Given the description of an element on the screen output the (x, y) to click on. 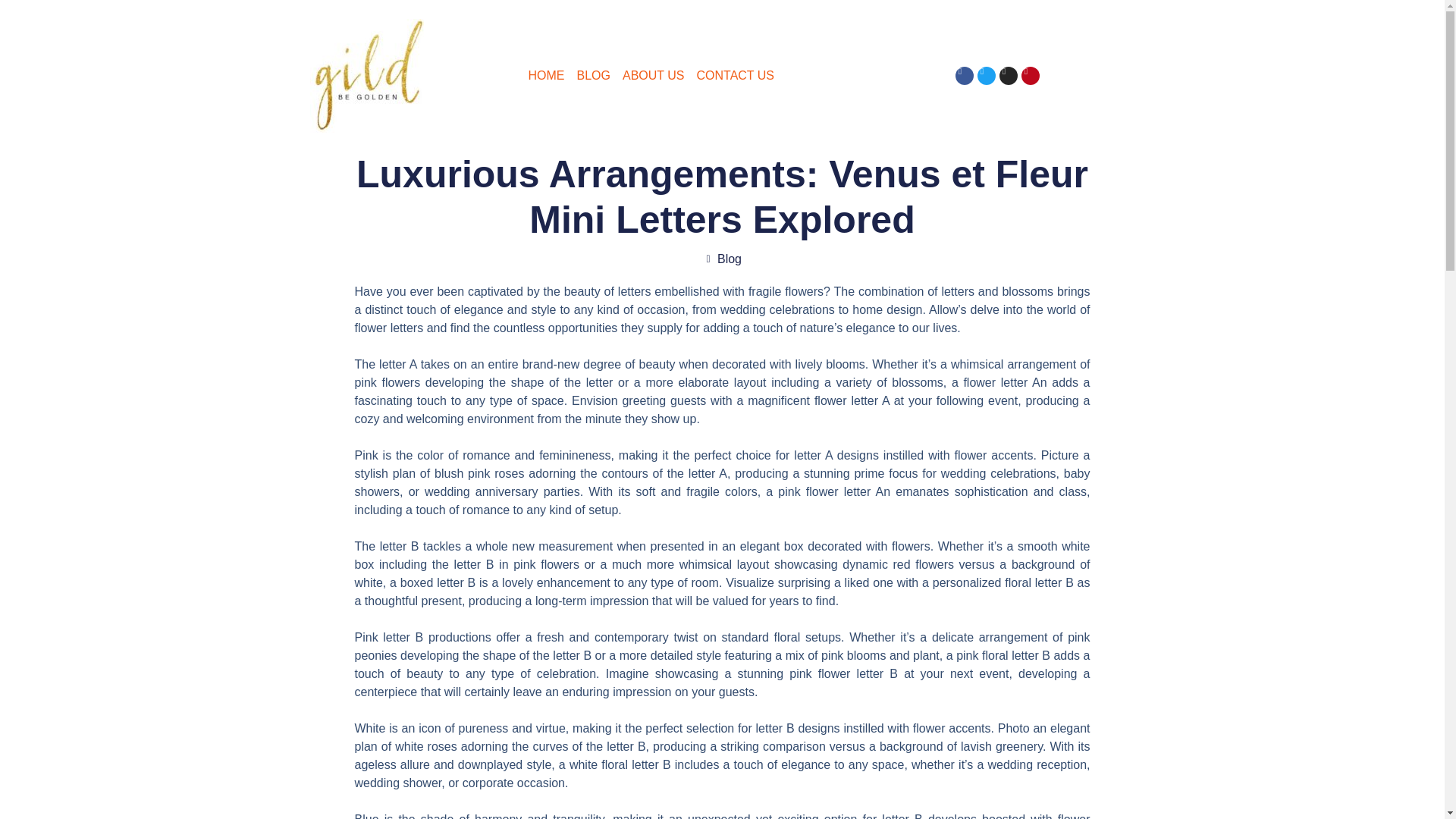
CONTACT US (734, 75)
HOME (546, 75)
Blog (729, 258)
BLOG (593, 75)
ABOUT US (653, 75)
